Given the description of an element on the screen output the (x, y) to click on. 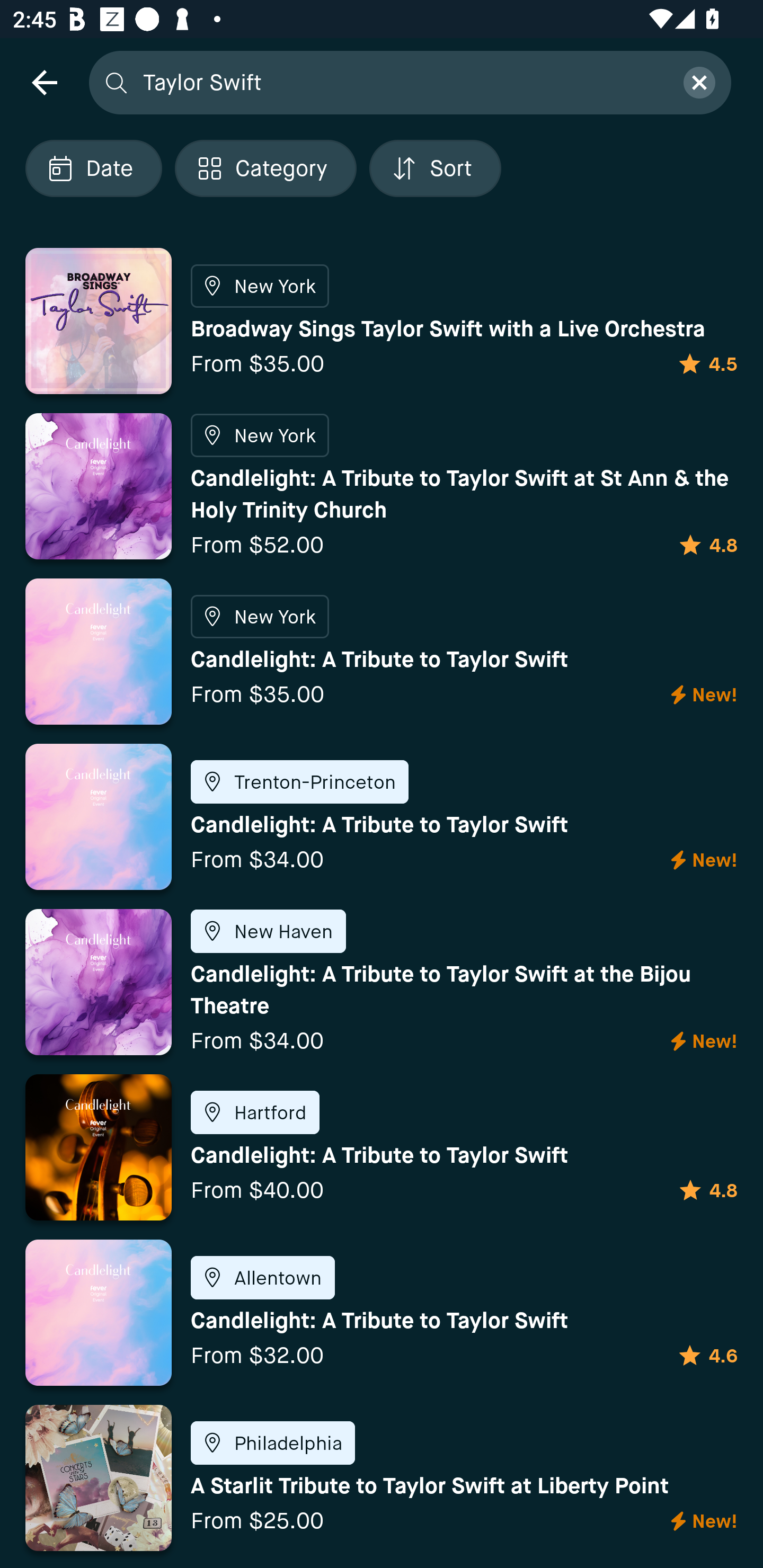
navigation icon (44, 81)
Taylor Swift (402, 81)
Localized description Date (93, 168)
Localized description Category (265, 168)
Localized description Sort (435, 168)
